Given the description of an element on the screen output the (x, y) to click on. 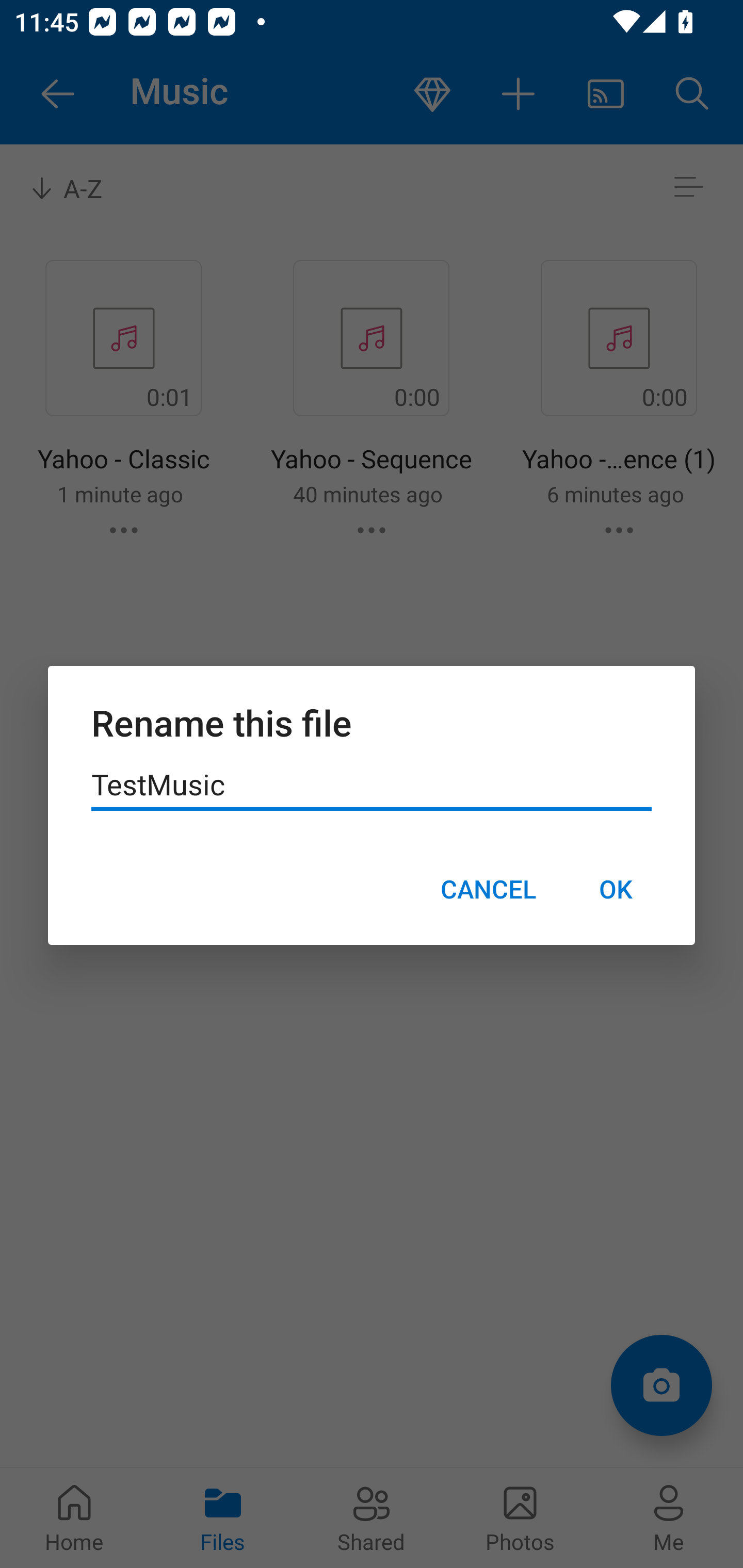
TestMusic (371, 784)
CANCEL (488, 888)
OK (615, 888)
